Given the description of an element on the screen output the (x, y) to click on. 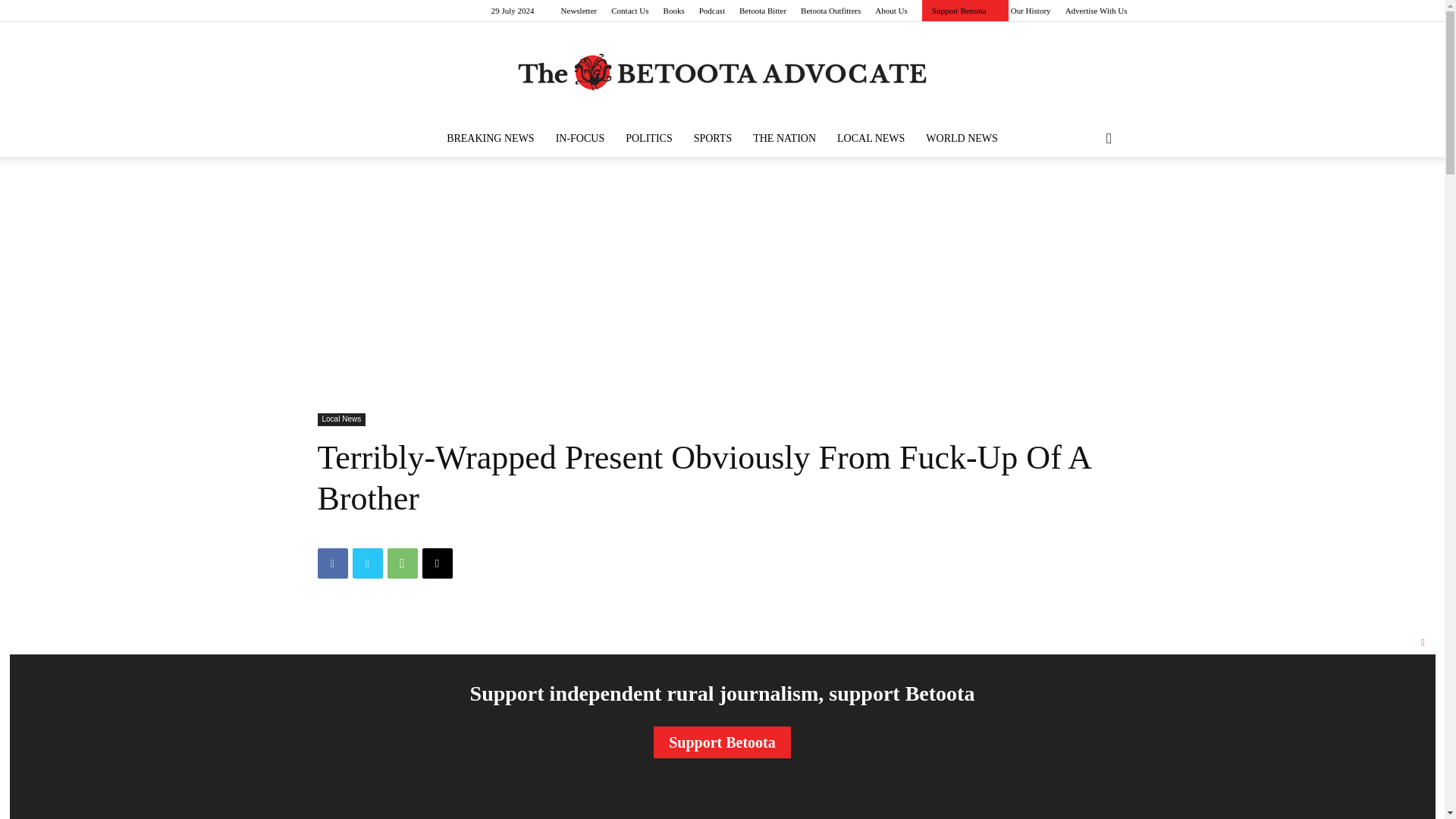
Podcast (711, 10)
Support Betoota (958, 10)
Our History (1030, 10)
fuckupbrother (580, 712)
Facebook (332, 562)
Local News (341, 419)
Betoota Bitter (762, 10)
Betoota Outfitters (830, 10)
Search (1085, 199)
Twitter (366, 562)
WORLD NEWS (962, 138)
SPORTS (712, 138)
WhatsApp (401, 562)
Email (436, 562)
